Given the description of an element on the screen output the (x, y) to click on. 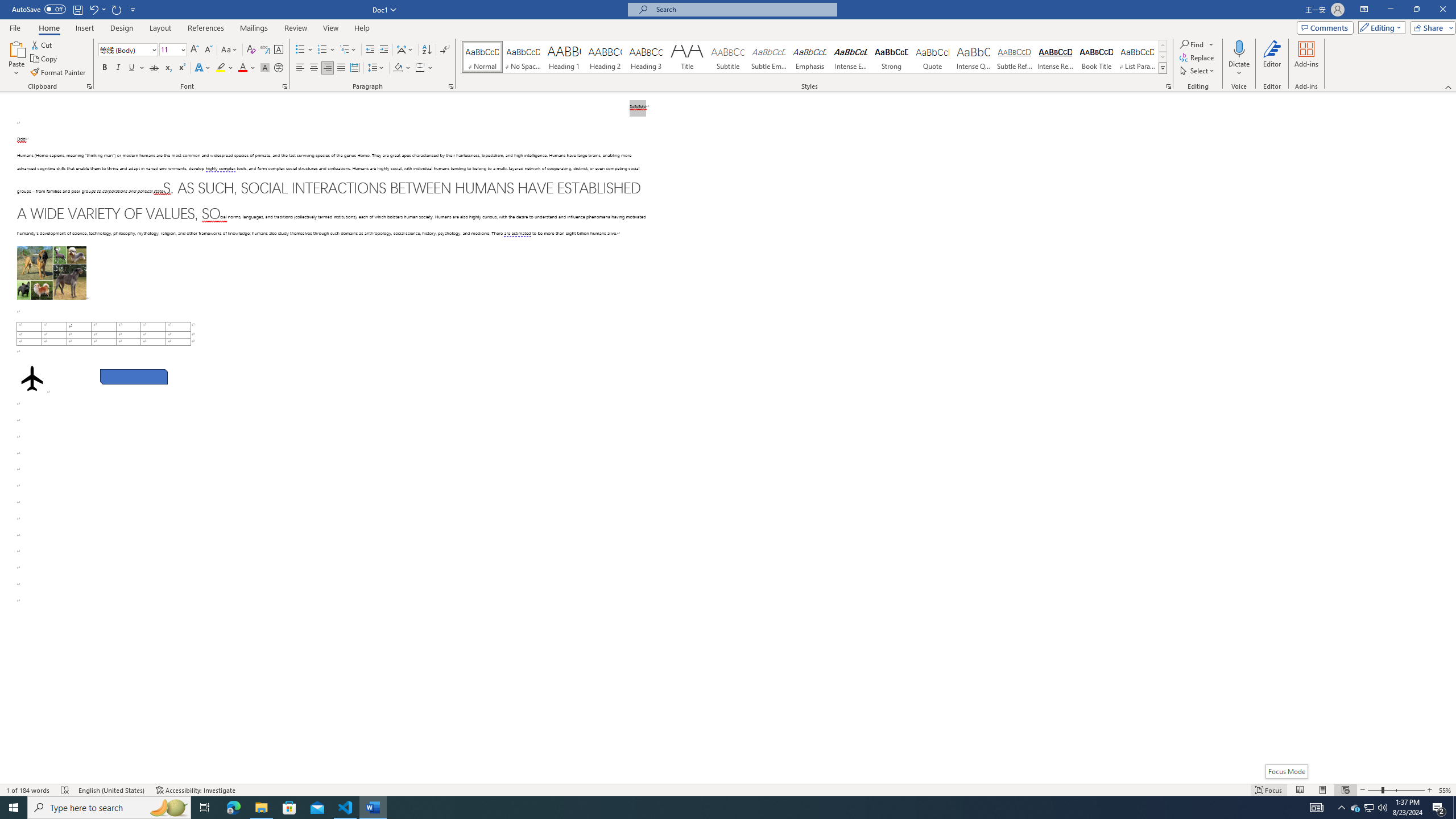
Undo Paragraph Alignment (92, 9)
Book Title (1095, 56)
